Given the description of an element on the screen output the (x, y) to click on. 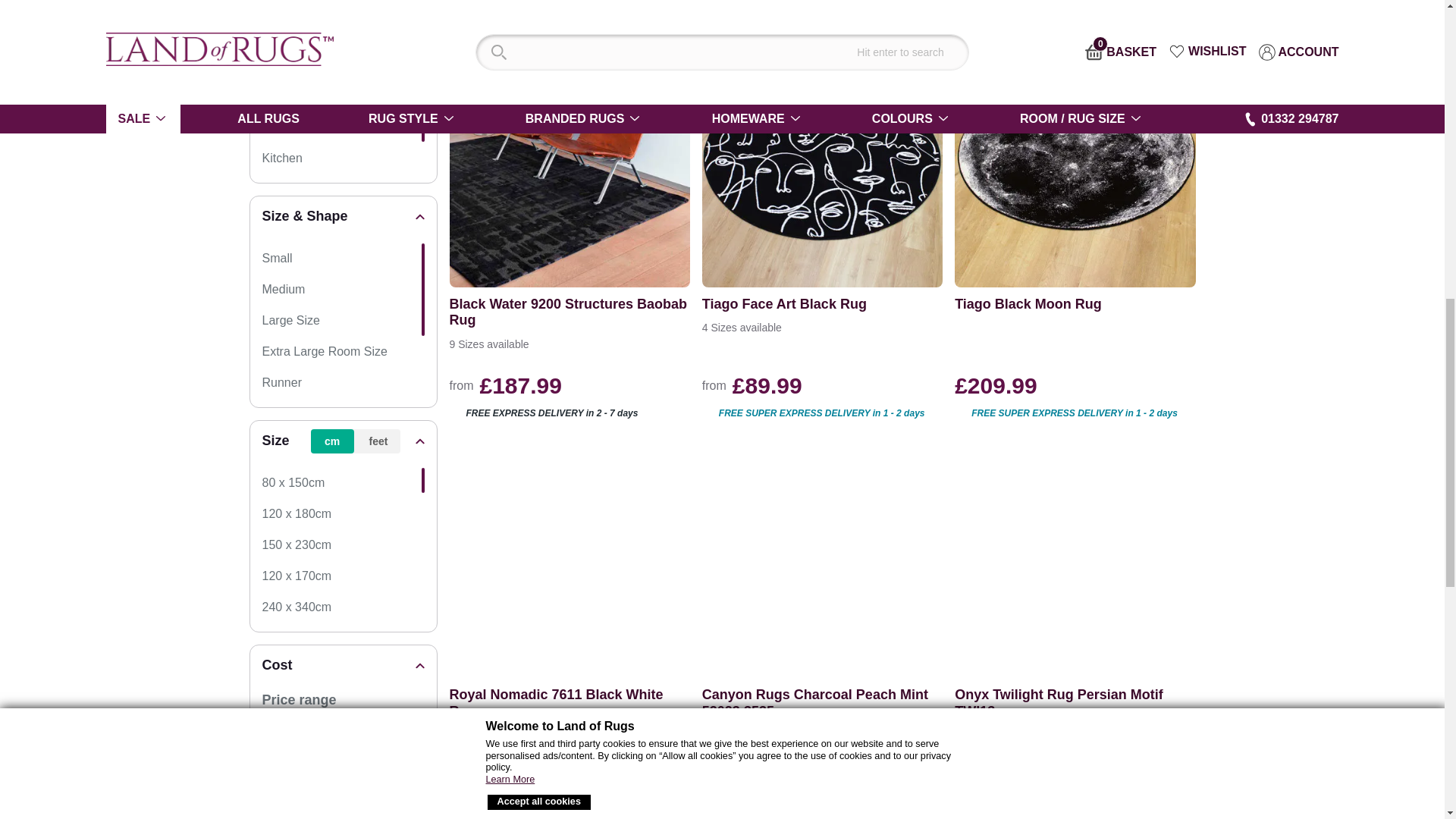
19 (298, 729)
2399 (386, 729)
